Given the description of an element on the screen output the (x, y) to click on. 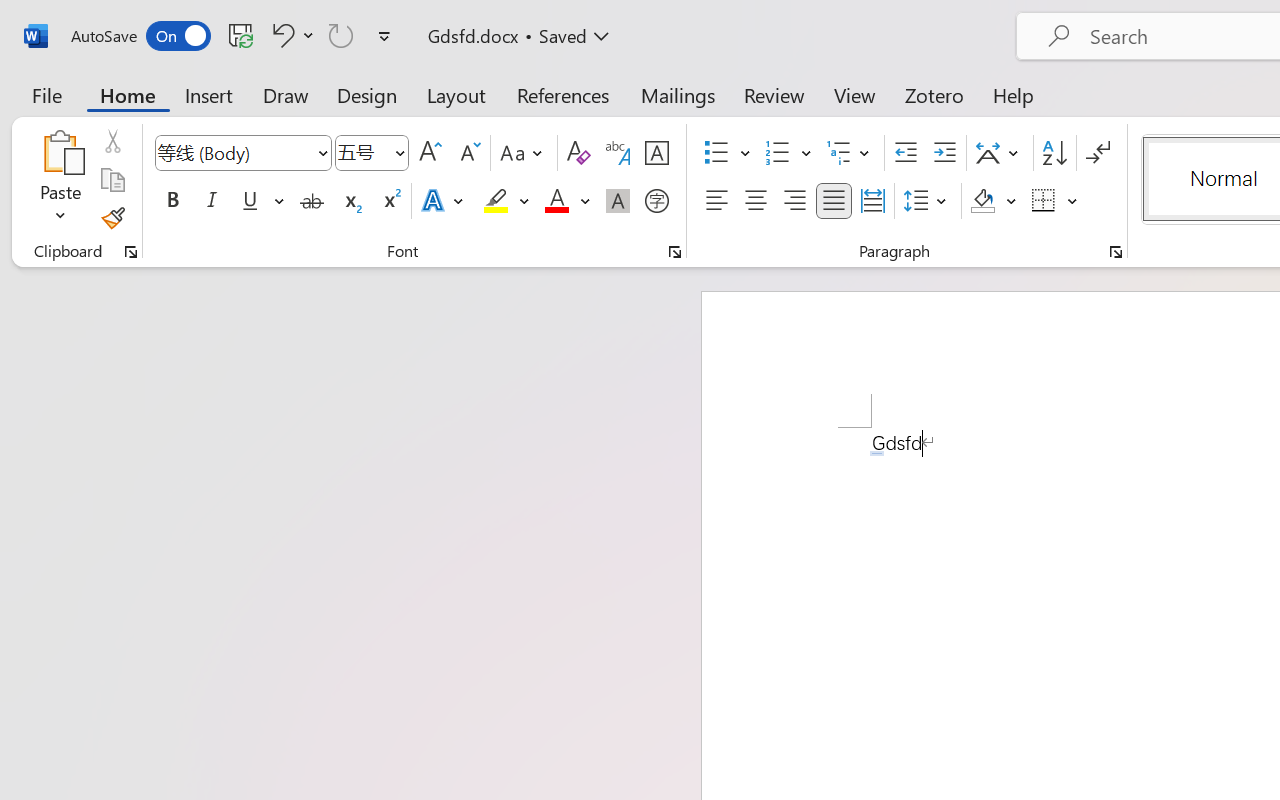
Enclose Characters... (656, 201)
Font Color Red (556, 201)
Office Clipboard... (131, 252)
Increase Indent (944, 153)
Strikethrough (312, 201)
Clear Formatting (578, 153)
Text Highlight Color Yellow (495, 201)
Show/Hide Editing Marks (1098, 153)
Format Painter (112, 218)
Italic (212, 201)
